Given the description of an element on the screen output the (x, y) to click on. 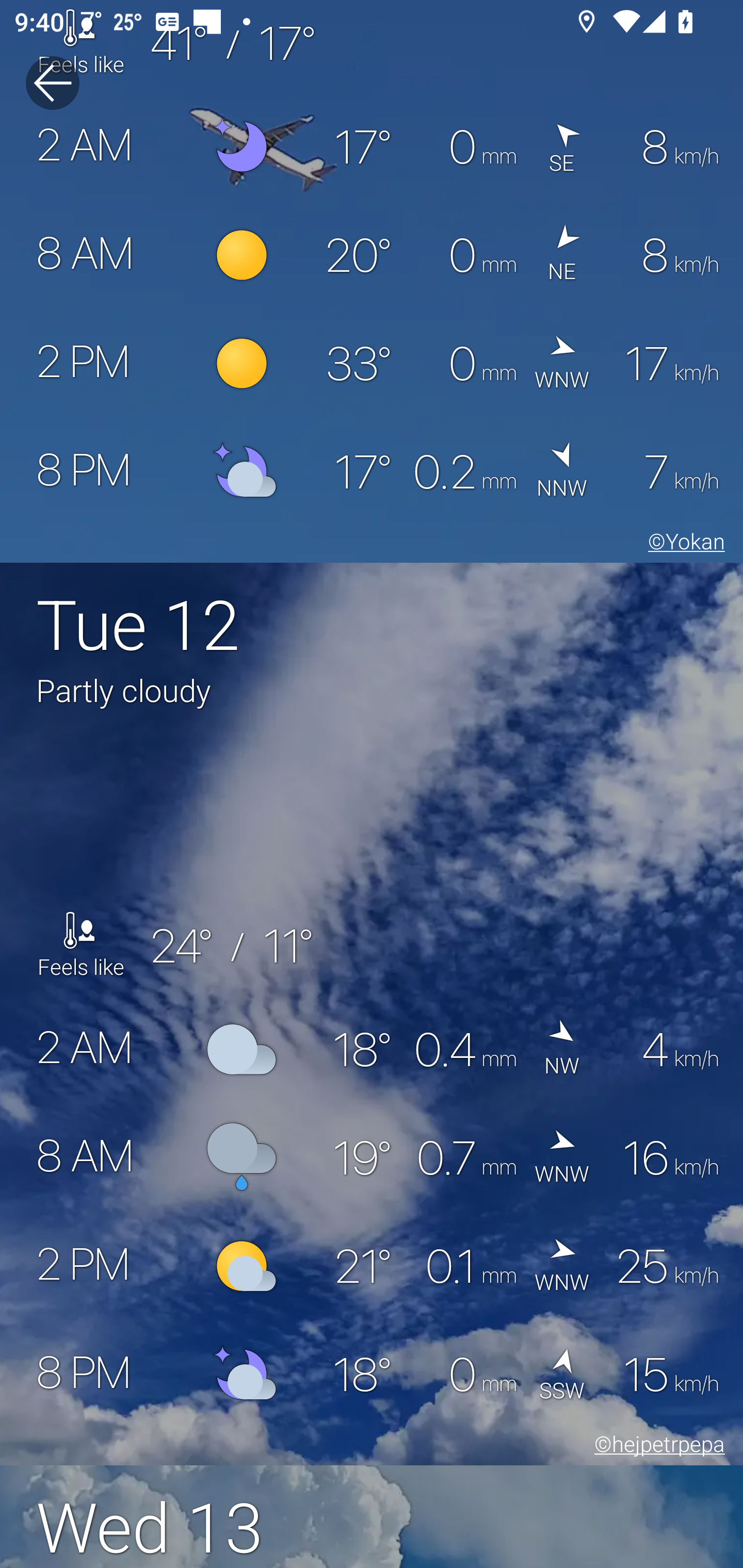
2 AM 17° 0 mm  SE 8 km/h (371, 146)
8 AM 20° 0 mm  NE 8 km/h (371, 254)
2 PM 33° 0 mm  WNW 17 km/h (371, 362)
8 PM 17° 0.2 mm  NNW 7 km/h (371, 471)
©Yokan (682, 544)
2 AM 18° 0.4 mm  NW 4 km/h (371, 1049)
8 AM 19° 0.7 mm  WNW 16 km/h (371, 1157)
2 PM 21° 0.1 mm  WNW 25 km/h (371, 1266)
8 PM 18° 0 mm  SSW 15 km/h (371, 1374)
©hejpetrpepa (655, 1447)
